Given the description of an element on the screen output the (x, y) to click on. 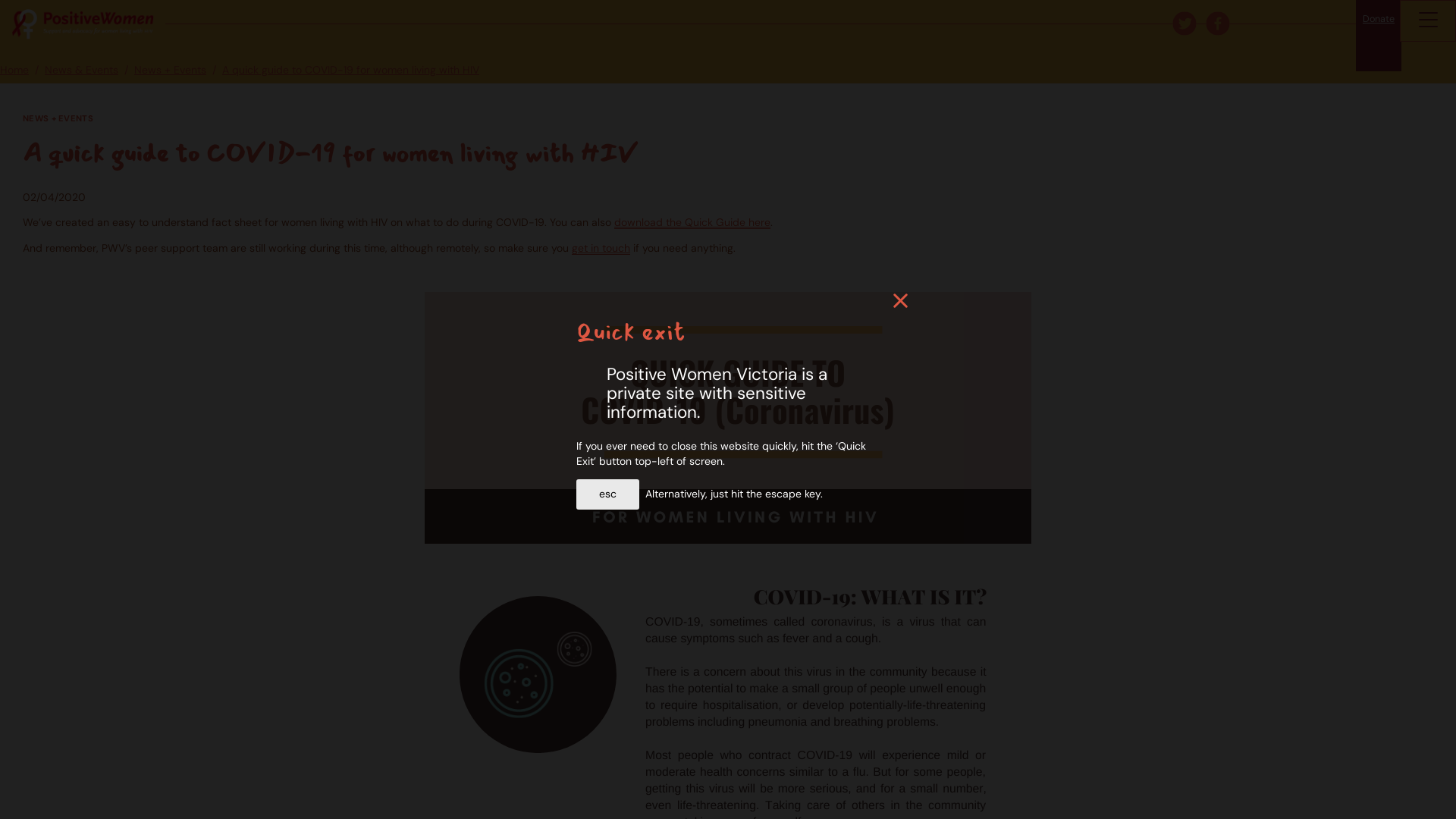
Home Element type: text (14, 69)
Donate Element type: text (1378, 35)
get in touch Element type: text (600, 247)
News + Events Element type: text (170, 69)
download the Quick Guide here Element type: text (692, 222)
A quick guide to COVID-19 for women living with HIV Element type: text (350, 69)
News & Events Element type: text (81, 69)
